Given the description of an element on the screen output the (x, y) to click on. 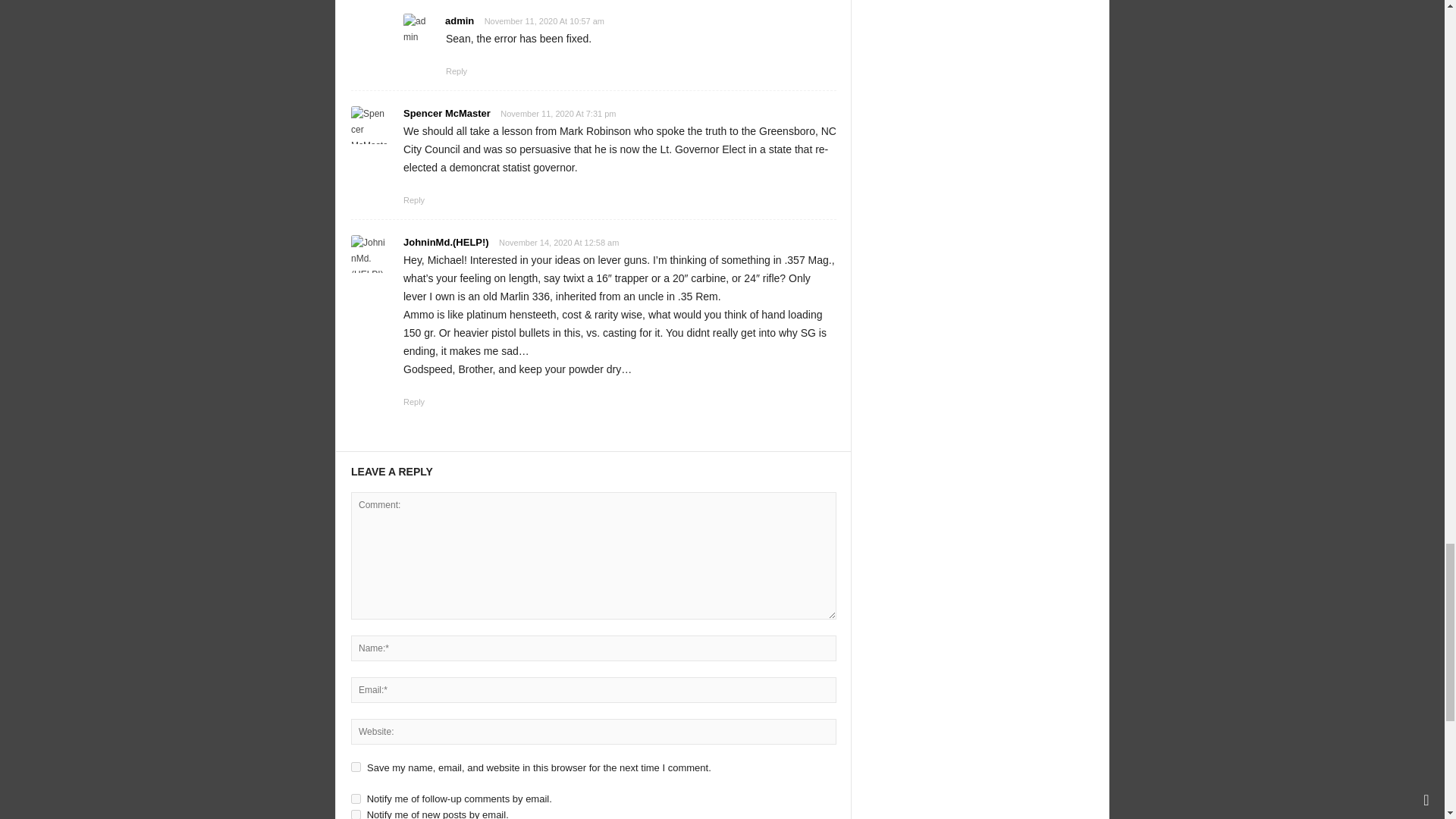
subscribe (355, 798)
yes (355, 767)
subscribe (355, 814)
